Given the description of an element on the screen output the (x, y) to click on. 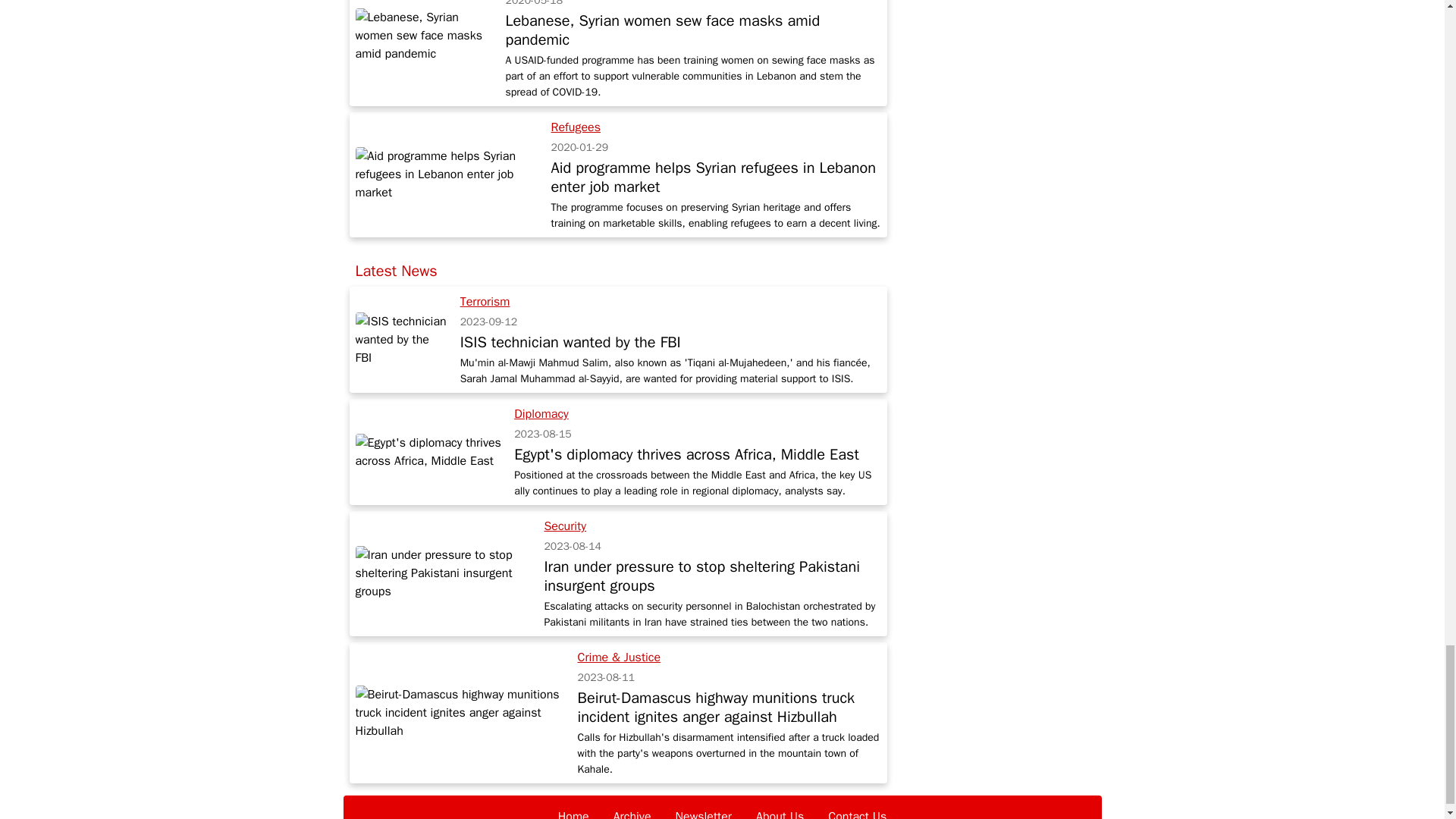
Refugees (576, 127)
Security (564, 525)
Diplomacy (541, 413)
Terrorism (485, 301)
